Given the description of an element on the screen output the (x, y) to click on. 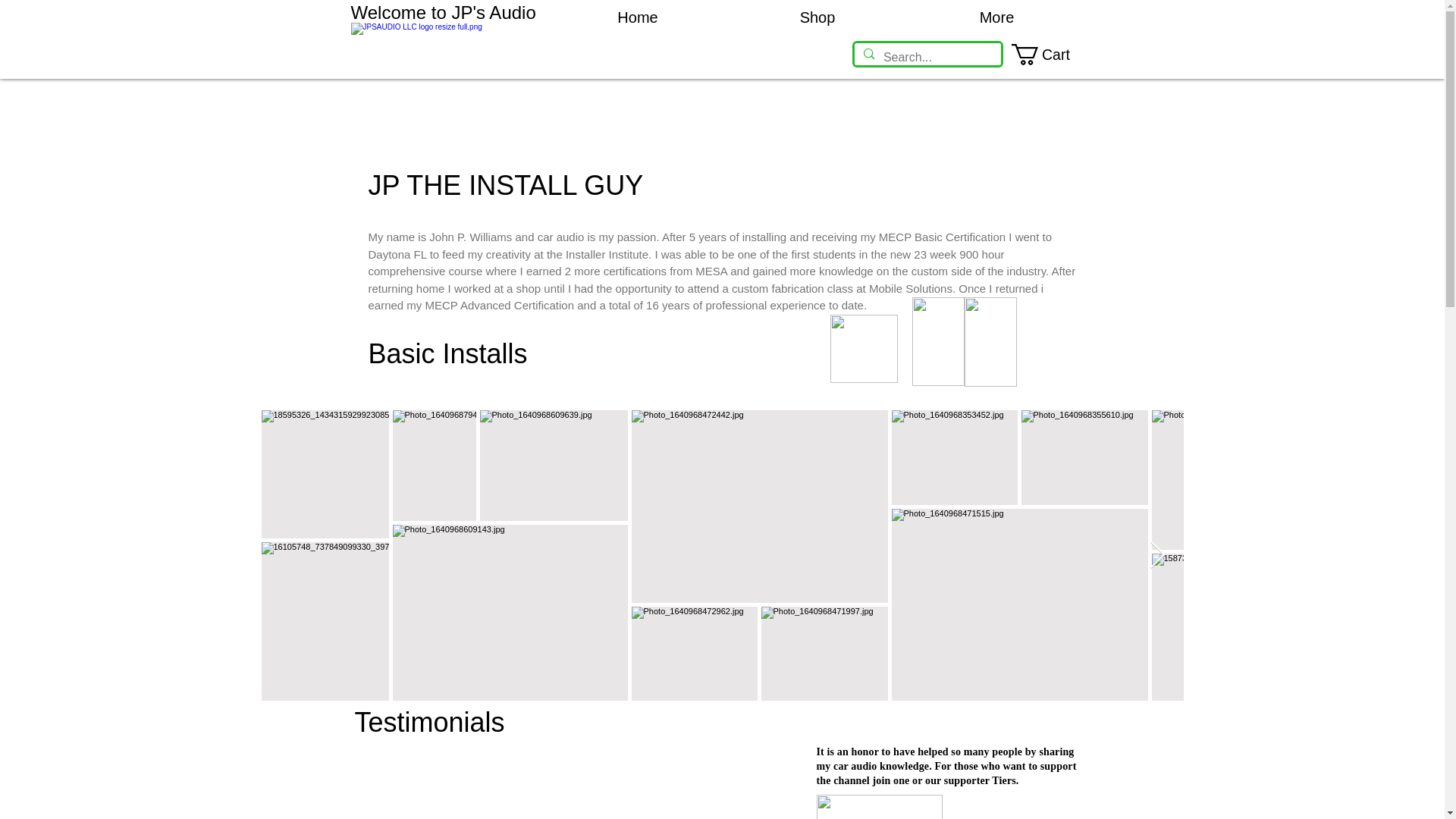
1641433759513-05.jpeg (878, 806)
Skilled-Logo.jpg (989, 341)
Cart (1052, 54)
Cart (1052, 54)
Apprentice-Logo.jpg (937, 341)
Home (636, 17)
Shop (817, 17)
